Given the description of an element on the screen output the (x, y) to click on. 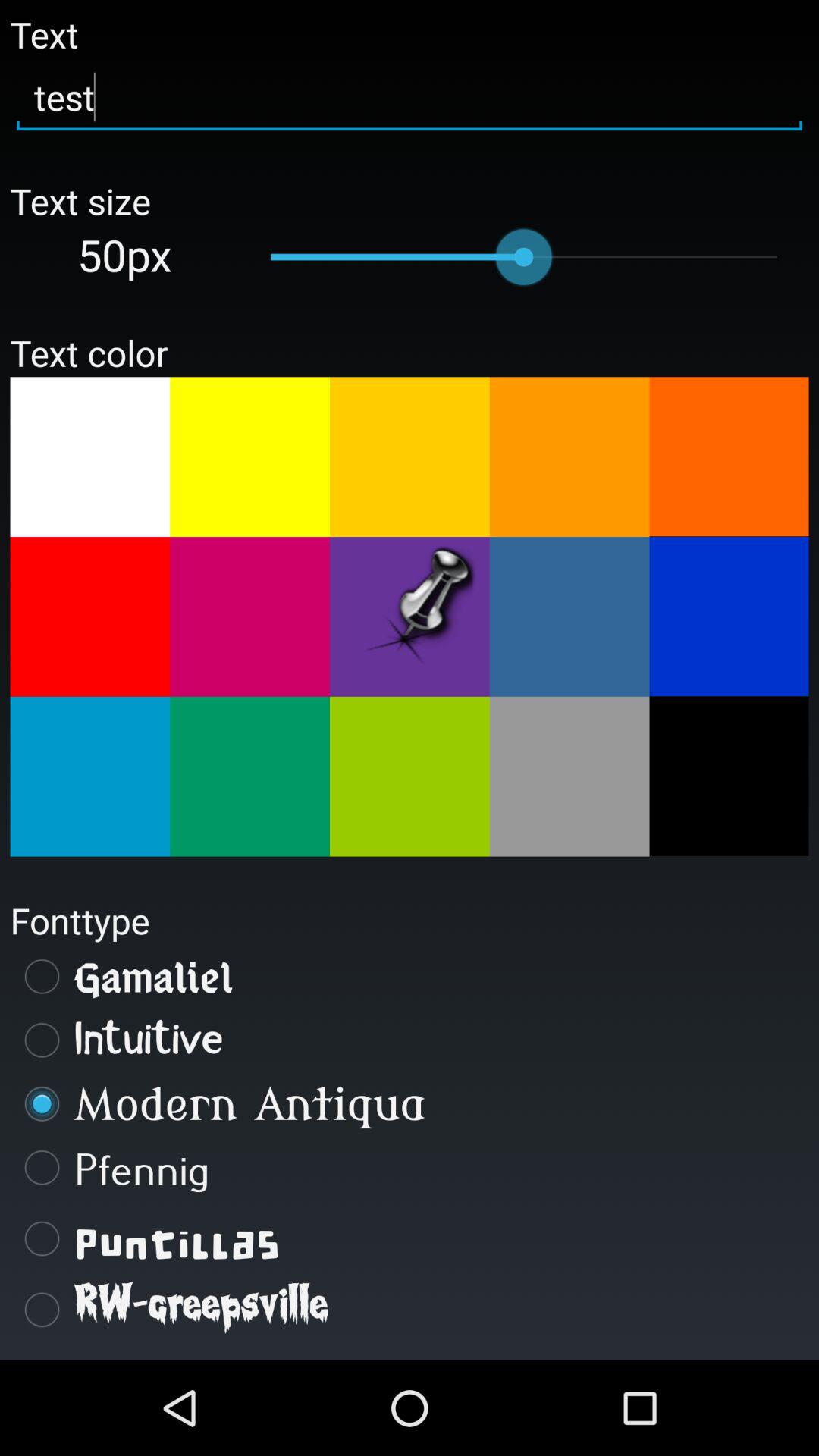
click to choose color (409, 616)
